Given the description of an element on the screen output the (x, y) to click on. 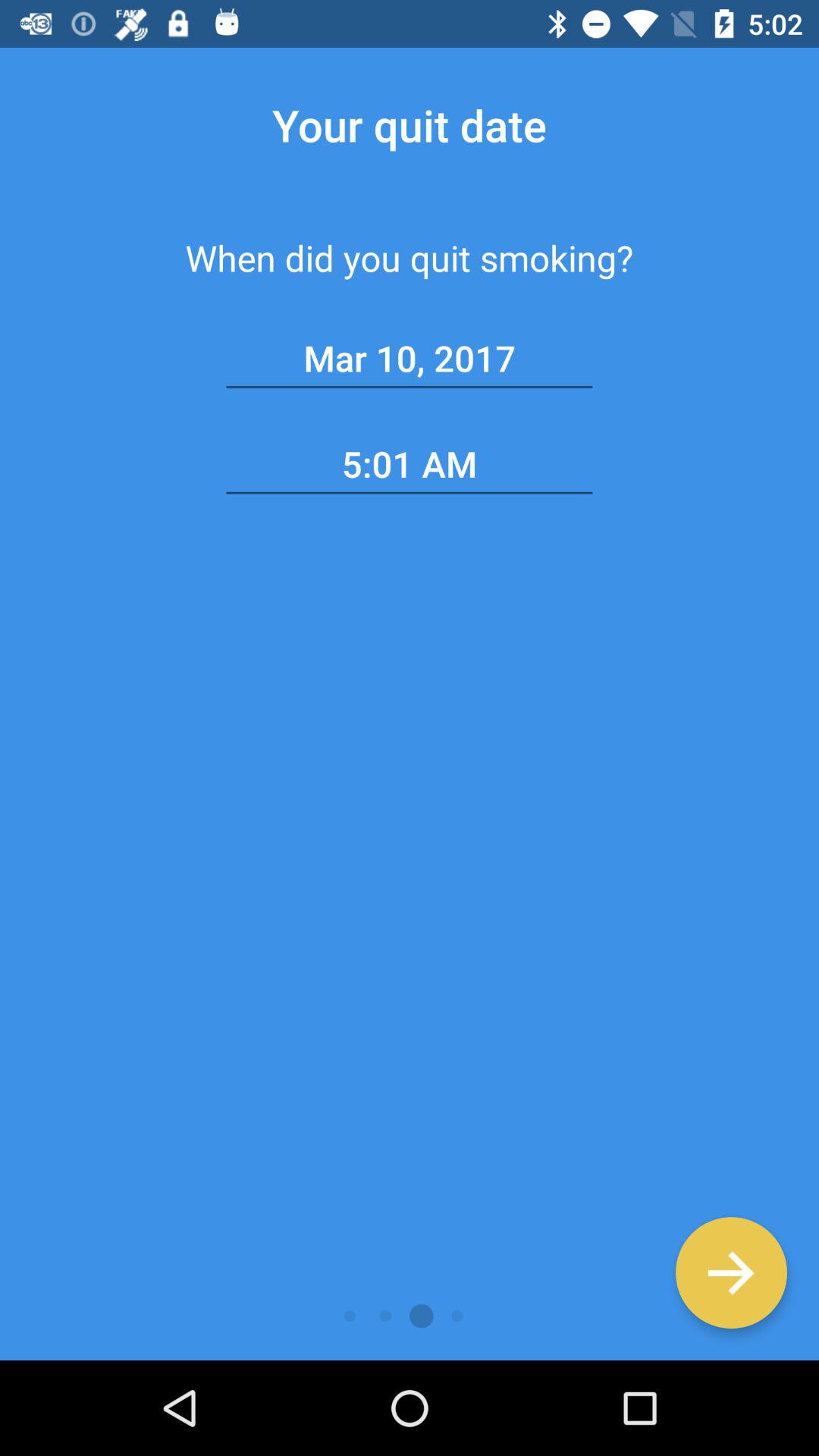
turn on the icon at the bottom right corner (731, 1272)
